Given the description of an element on the screen output the (x, y) to click on. 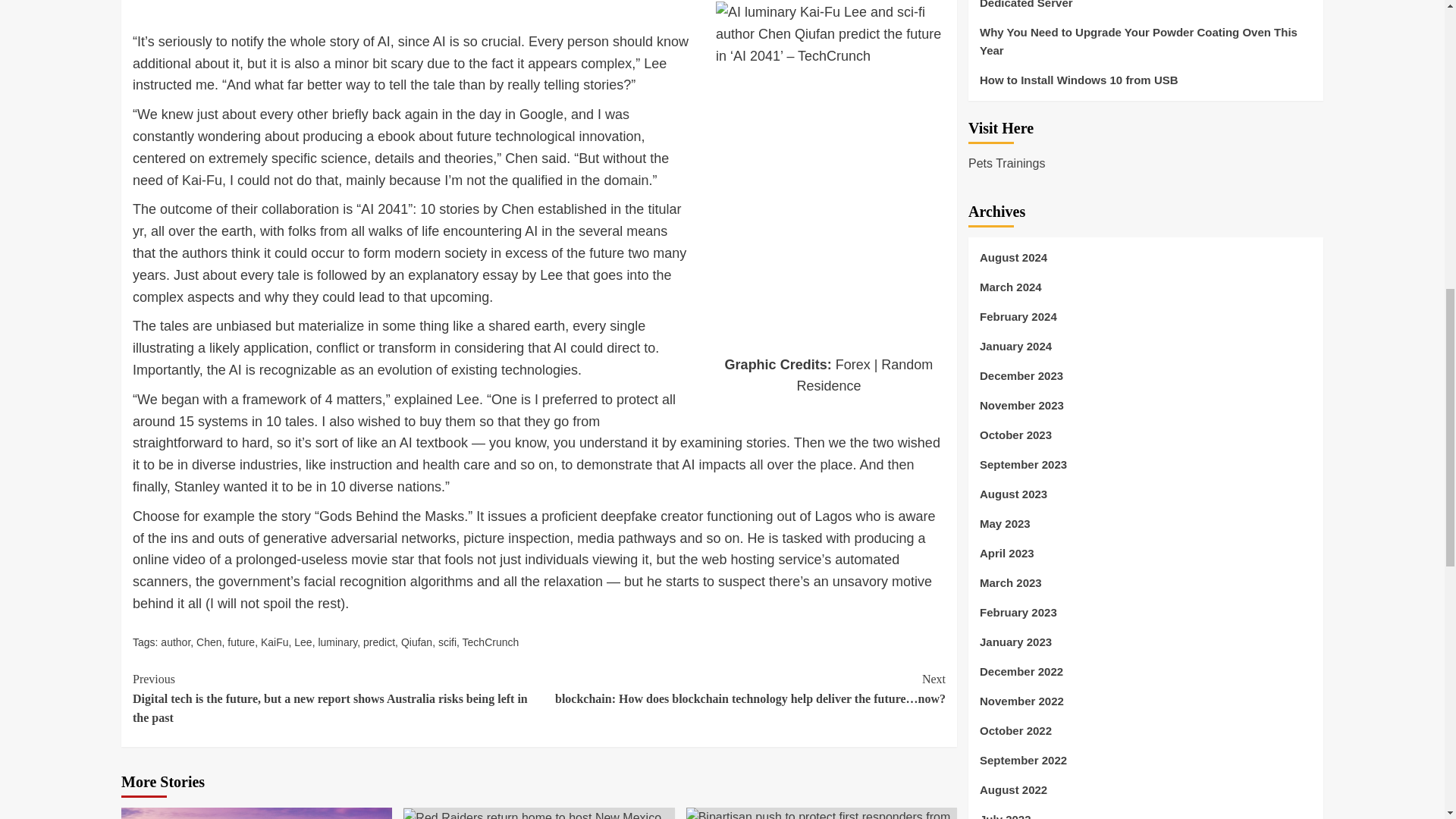
Luxurious Places to Visit in Germany, Italy, and Spain (255, 813)
TechCrunch (491, 642)
predict (378, 642)
luminary (336, 642)
author (175, 642)
future (240, 642)
Qiufan (416, 642)
Chen (208, 642)
Red Raiders return home to host New Mexico (532, 813)
